Given the description of an element on the screen output the (x, y) to click on. 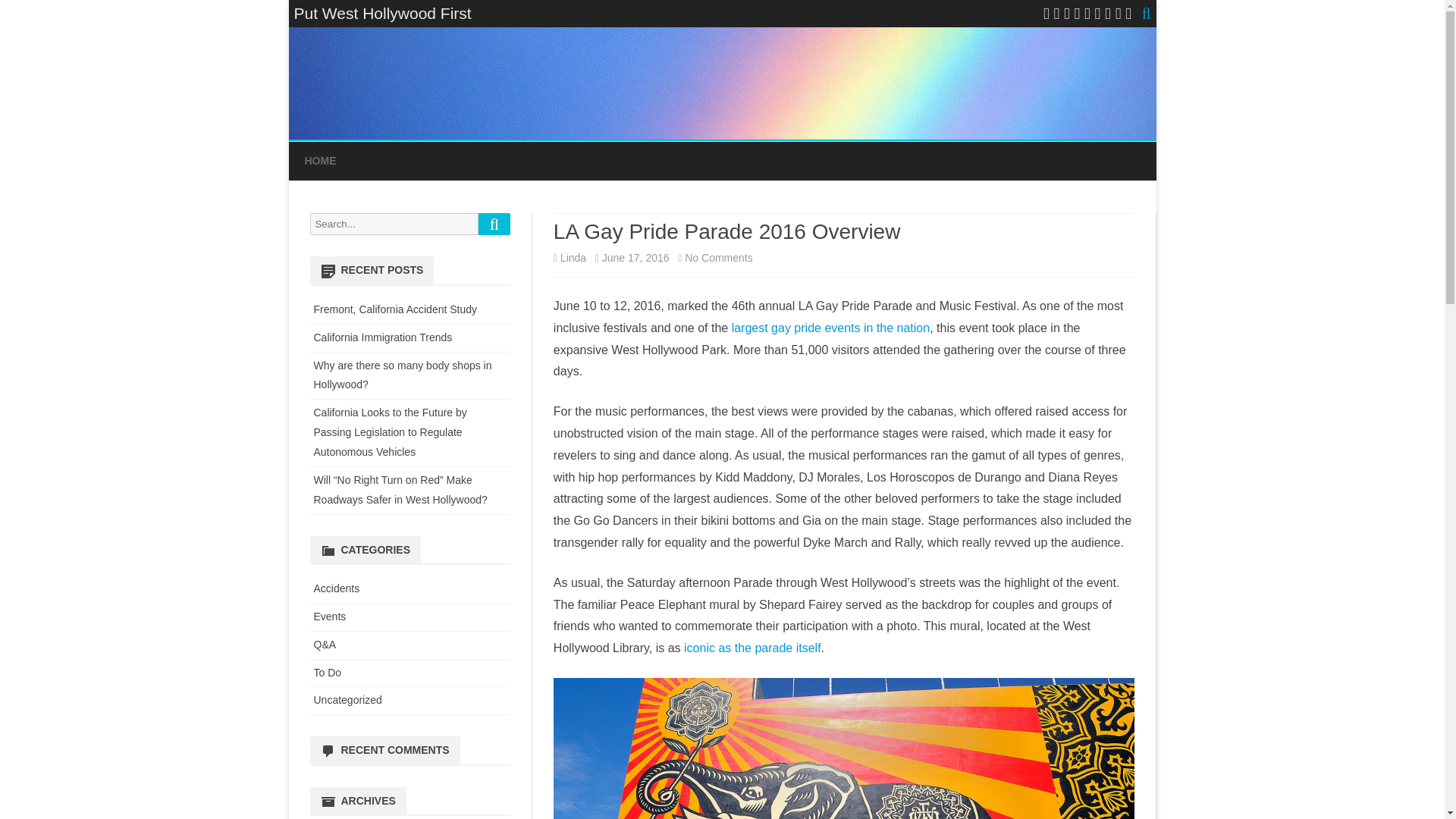
Fremont, California Accident Study (395, 309)
Linda (573, 257)
Search (495, 223)
Why are there so many body shops in Hollywood? (403, 375)
California Immigration Trends (383, 337)
largest gay pride events in the nation (831, 327)
Accidents (718, 257)
iconic as the parade itself (336, 588)
